Given the description of an element on the screen output the (x, y) to click on. 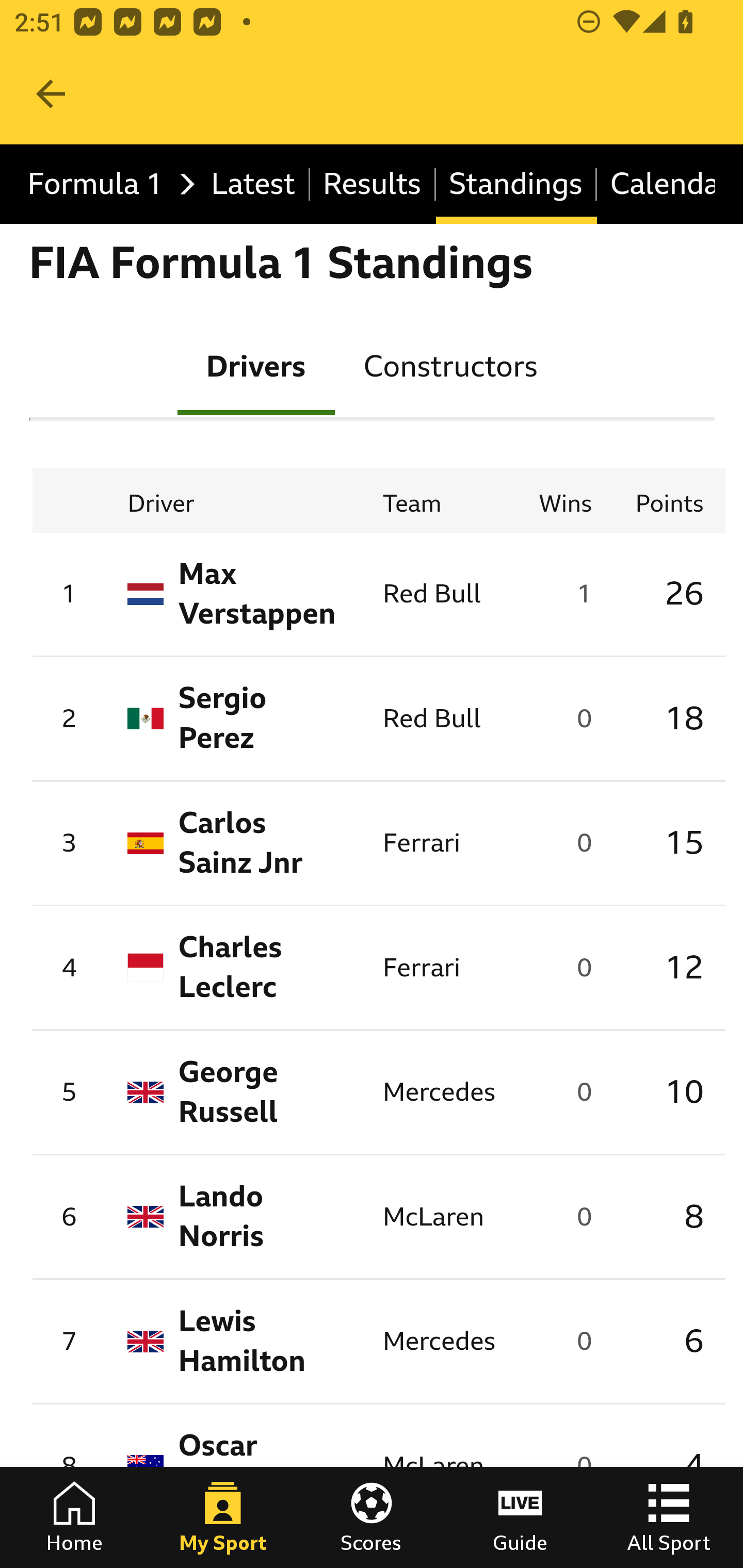
Navigate up (50, 93)
Formula 1 (106, 184)
Latest (253, 184)
Results (372, 184)
Standings (515, 184)
Calendar (655, 184)
Drivers (255, 365)
Constructors (449, 365)
Home (74, 1517)
Scores (371, 1517)
Guide (519, 1517)
All Sport (668, 1517)
